Given the description of an element on the screen output the (x, y) to click on. 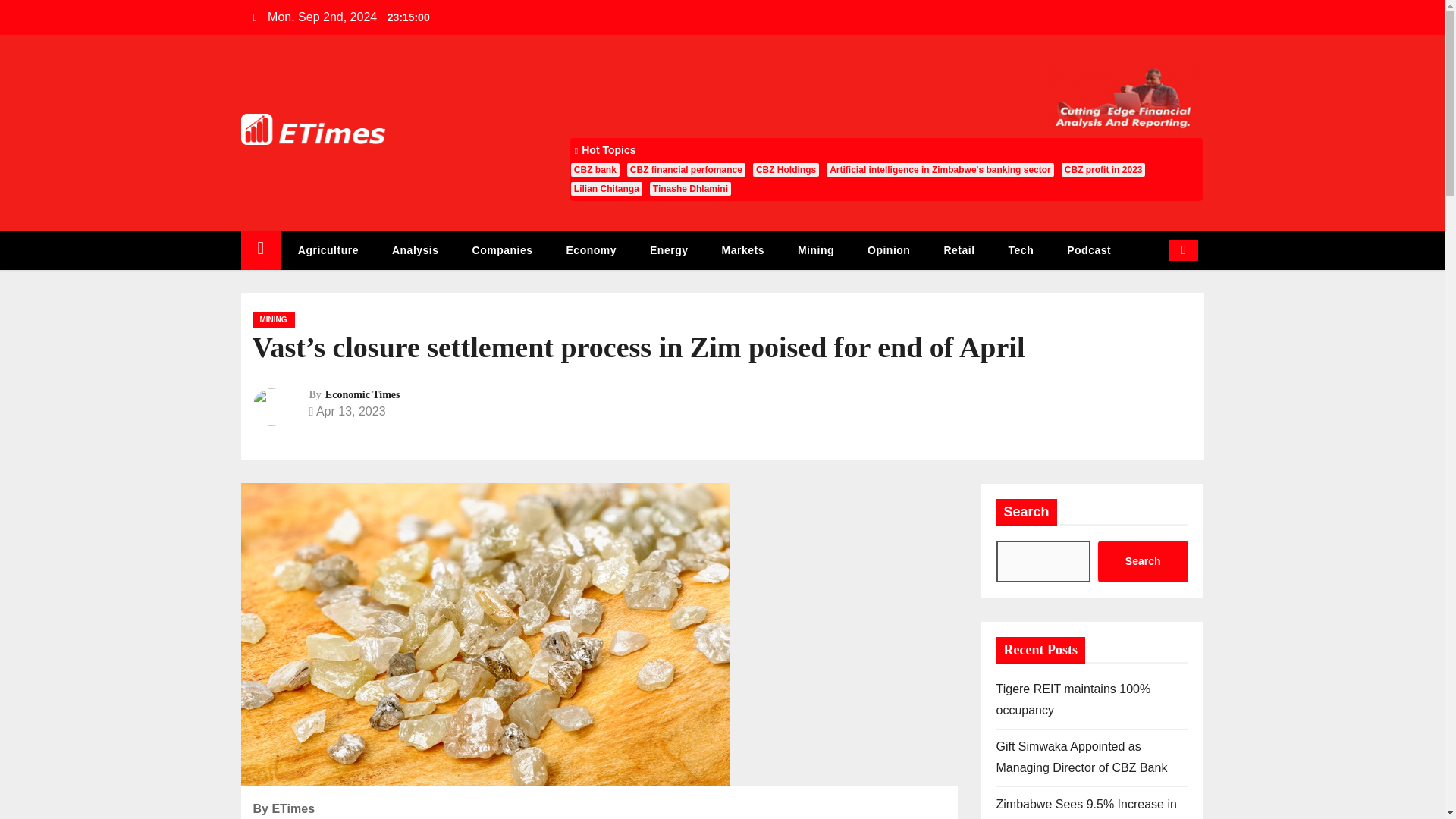
Analysis (415, 250)
Tech (1021, 250)
Retail (958, 250)
MINING (272, 319)
Home (261, 250)
Economy (591, 250)
Economy (591, 250)
Mining (815, 250)
Podcast (1087, 250)
Markets (742, 250)
